Given the description of an element on the screen output the (x, y) to click on. 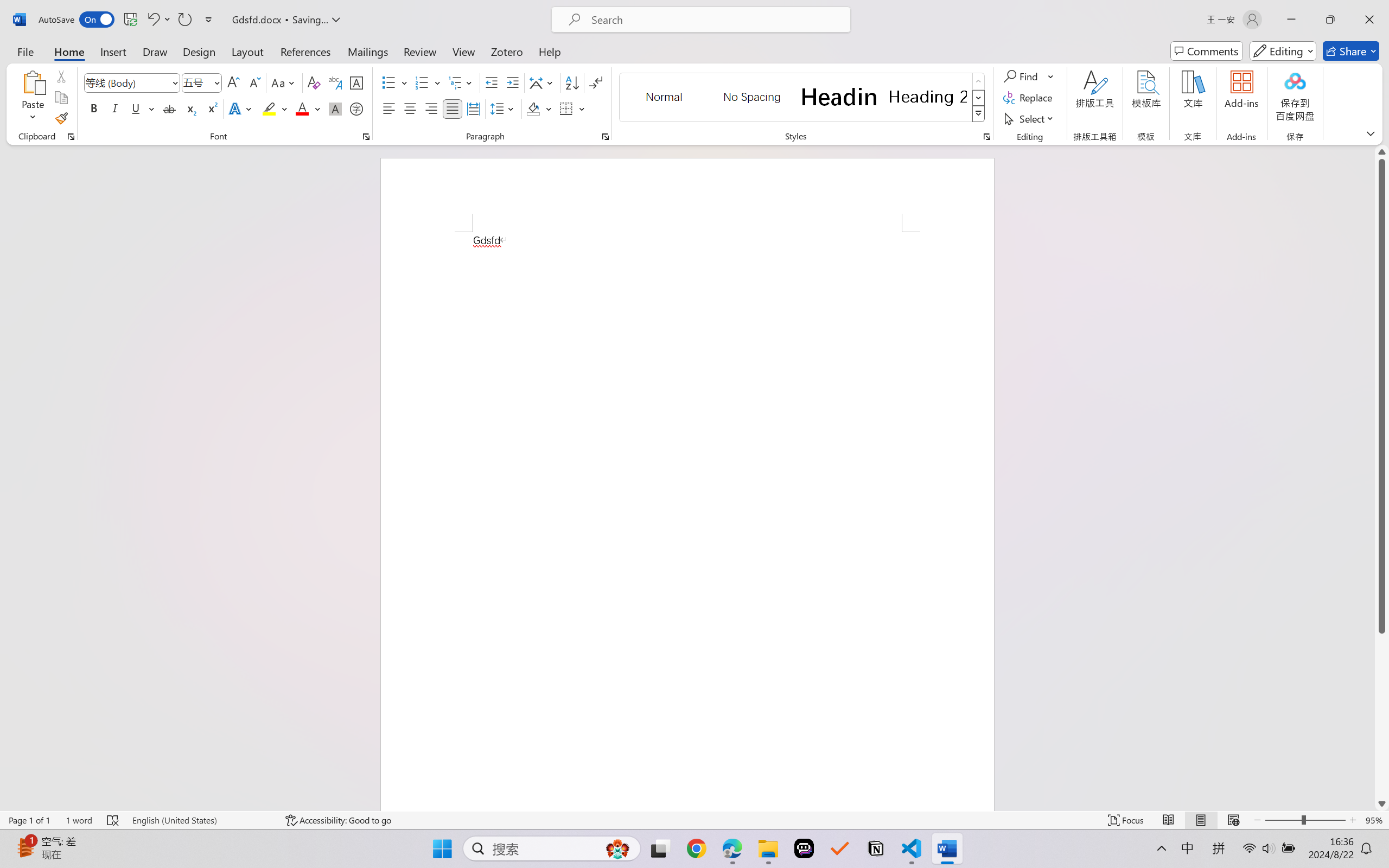
Spelling and Grammar Check Errors (113, 819)
Character Shading (334, 108)
Shrink Font (253, 82)
Strikethrough (169, 108)
Copy (60, 97)
Undo Style (158, 19)
Line up (1382, 151)
Microsoft search (715, 19)
Subscript (190, 108)
Font... (365, 136)
